Given the description of an element on the screen output the (x, y) to click on. 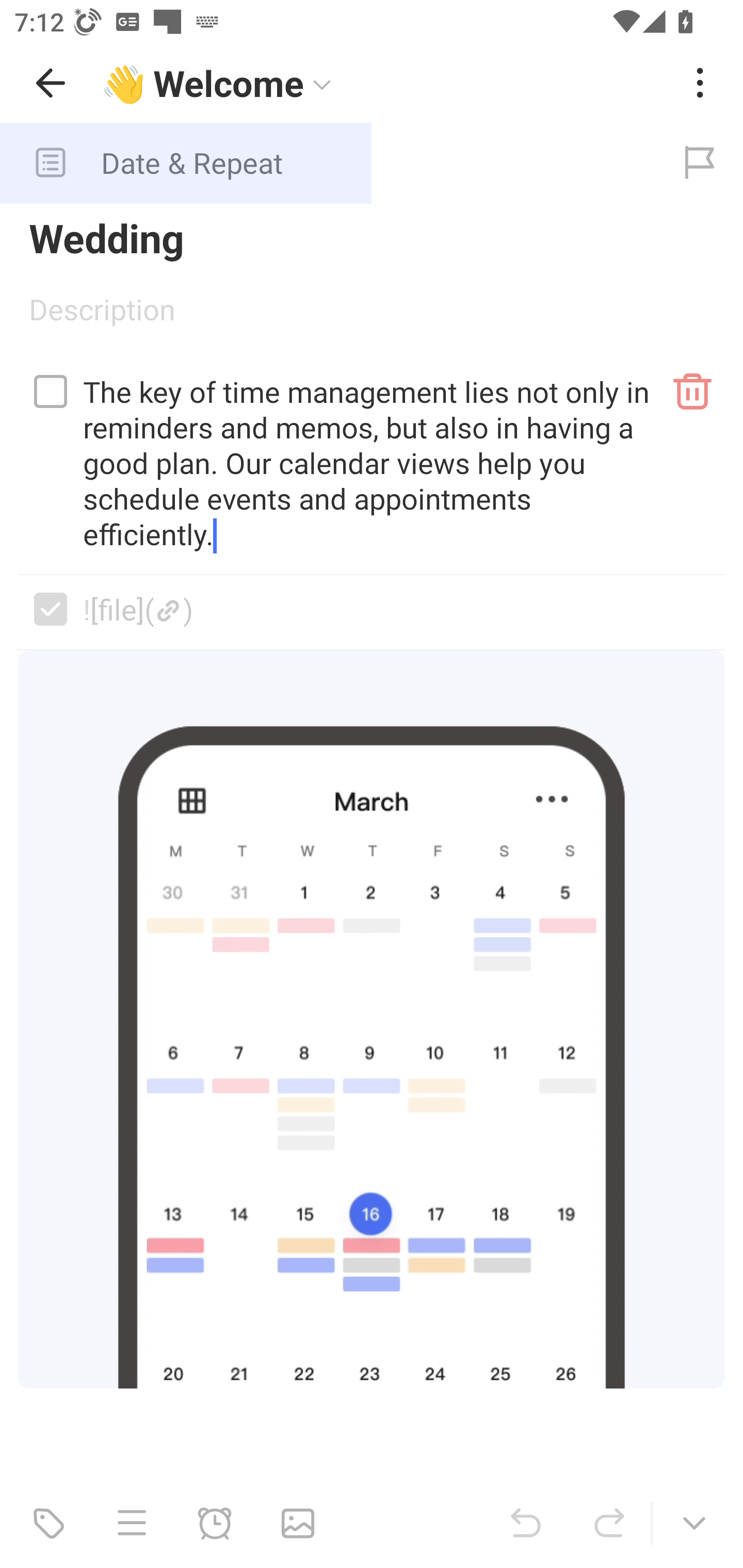
👋 Welcome (384, 82)
Date & Repeat (328, 163)
Wedding (371, 237)
Description (371, 315)
  (50, 390)
  (50, 608)
